Given the description of an element on the screen output the (x, y) to click on. 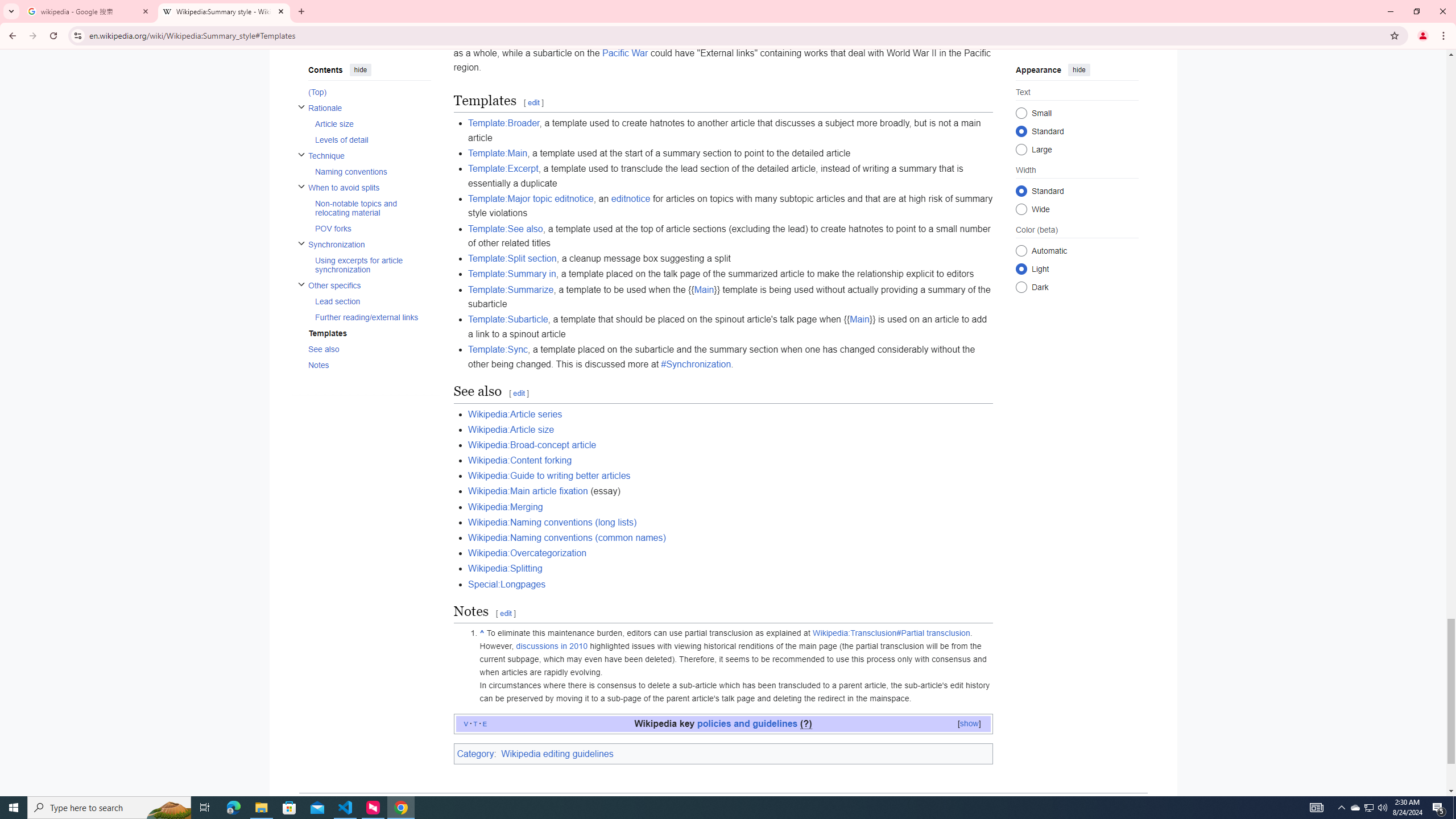
editnotice (630, 198)
Category (475, 753)
v (465, 723)
Template:Summary in (511, 273)
Pacific War (624, 52)
policies and guidelines (747, 723)
Lead section (372, 301)
AutomationID: toc-Levels_of_detail (368, 139)
Wikipedia:Naming conventions (common names) (566, 537)
Toggle Other specifics subsection (300, 283)
Jump up (481, 633)
Standard (1020, 190)
